Given the description of an element on the screen output the (x, y) to click on. 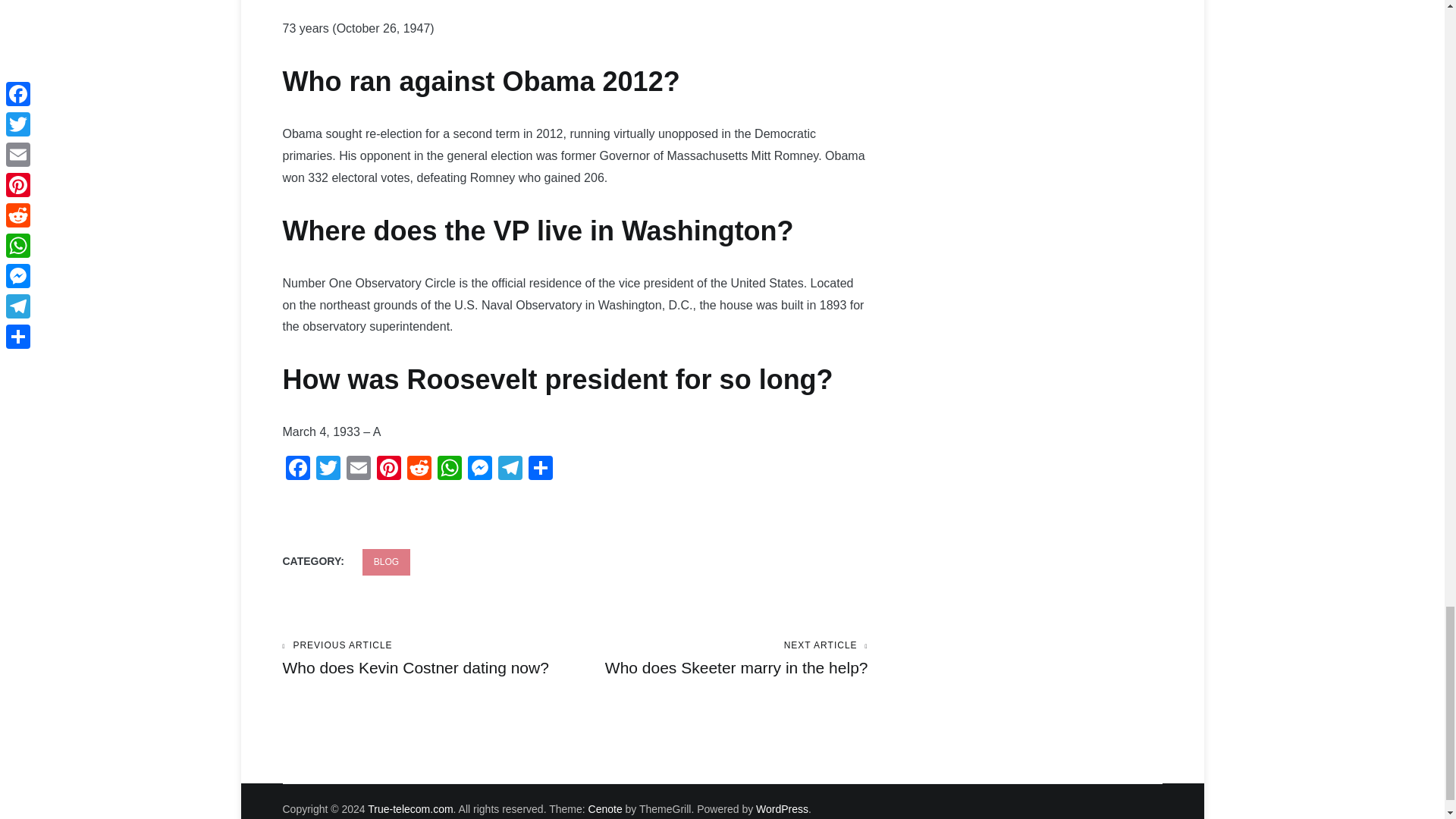
Email (357, 469)
Pinterest (387, 469)
Reddit (418, 469)
WhatsApp (448, 469)
Email (357, 469)
Facebook (297, 469)
WhatsApp (448, 469)
Twitter (327, 469)
Twitter (327, 469)
Pinterest (387, 469)
